Given the description of an element on the screen output the (x, y) to click on. 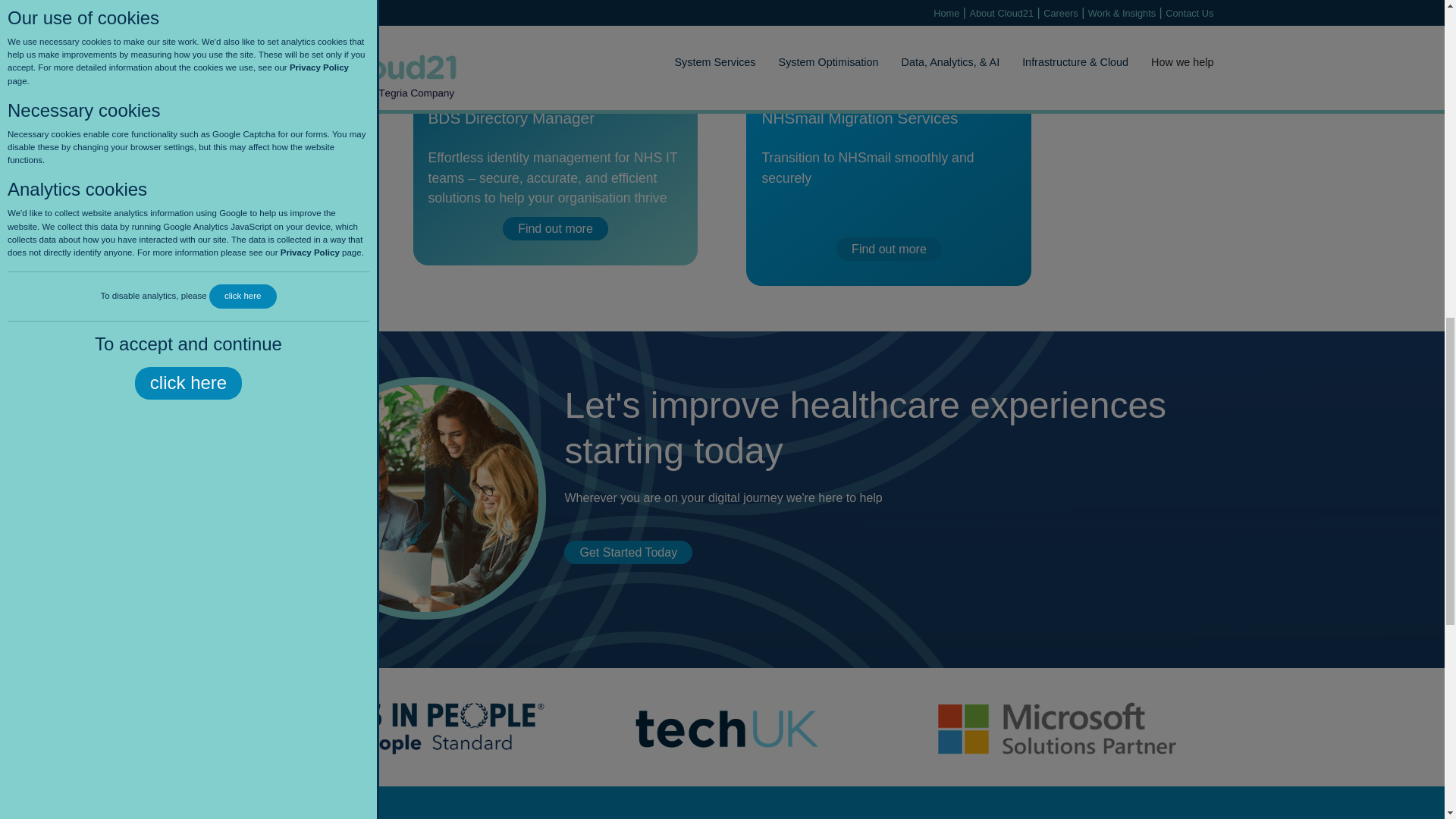
Find out more (555, 228)
Investors In People (388, 728)
Find out more (888, 249)
Microsoft Solutions Partner (1055, 728)
Get Started Today (628, 552)
Tech UK (721, 728)
